Given the description of an element on the screen output the (x, y) to click on. 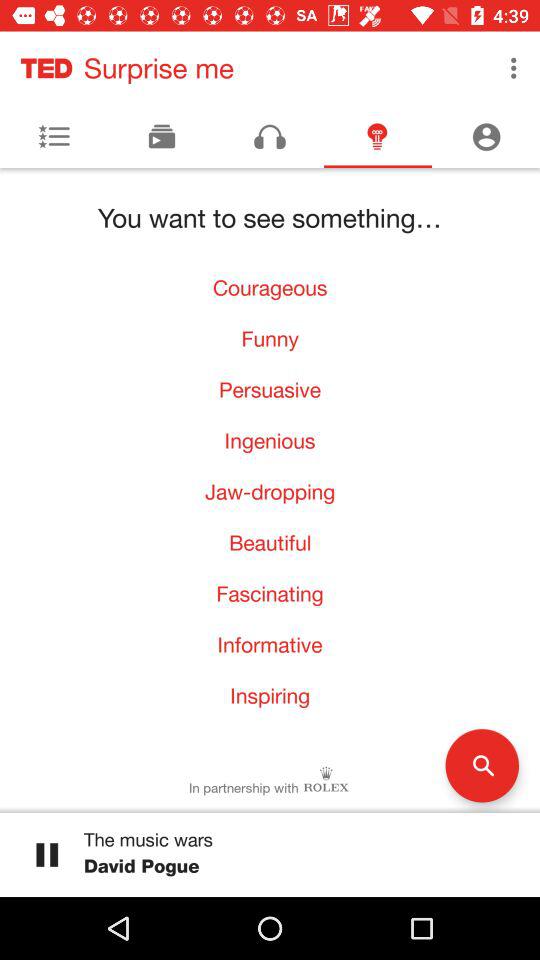
turn off the icon below funny item (270, 389)
